Given the description of an element on the screen output the (x, y) to click on. 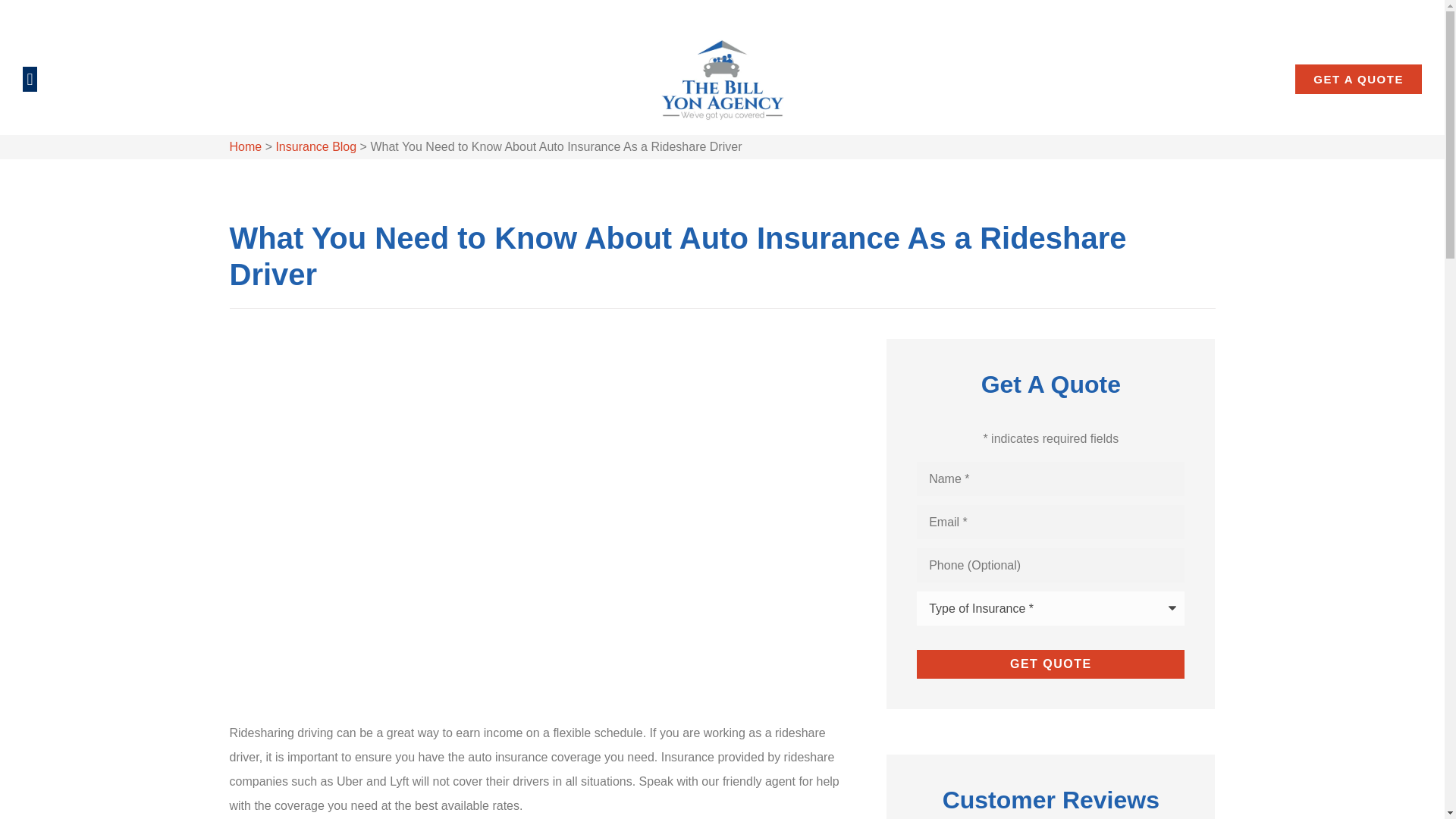
Get Quote (1051, 664)
